Given the description of an element on the screen output the (x, y) to click on. 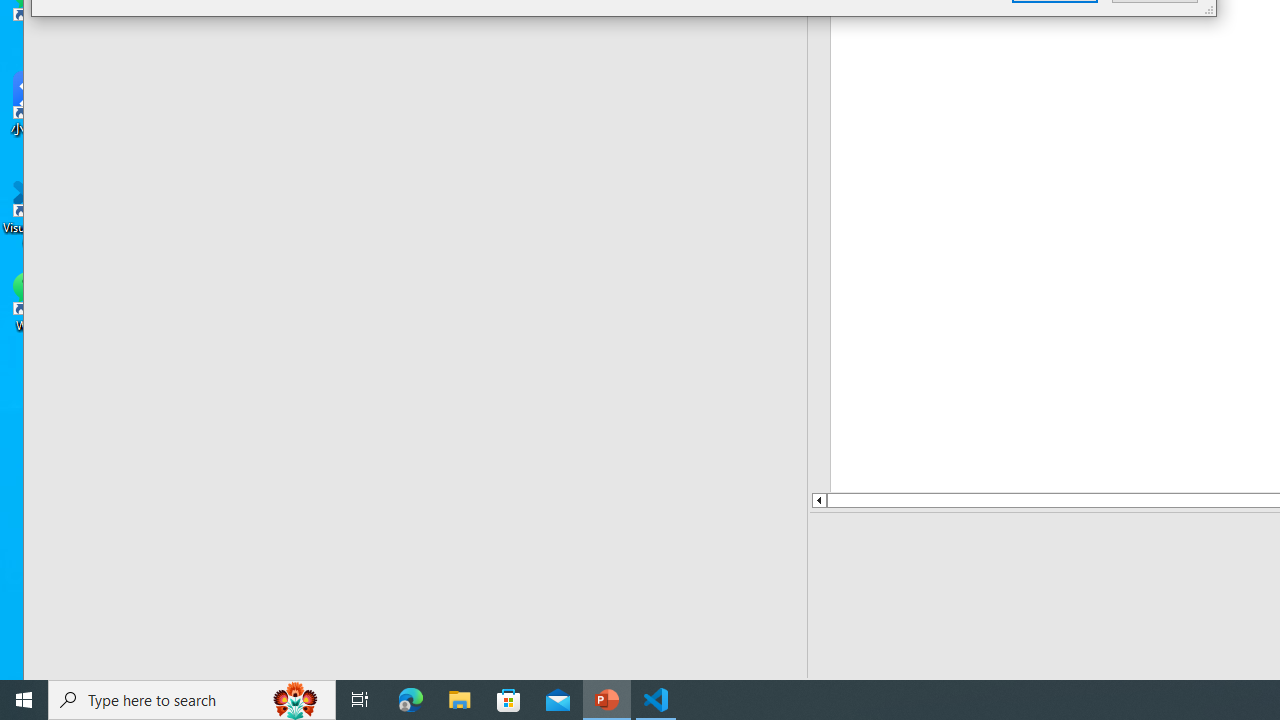
Microsoft Edge (411, 699)
Visual Studio Code - 1 running window (656, 699)
File Explorer (460, 699)
Microsoft Store (509, 699)
Task View (359, 699)
Search highlights icon opens search home window (295, 699)
Type here to search (191, 699)
PowerPoint - 1 running window (607, 699)
